Given the description of an element on the screen output the (x, y) to click on. 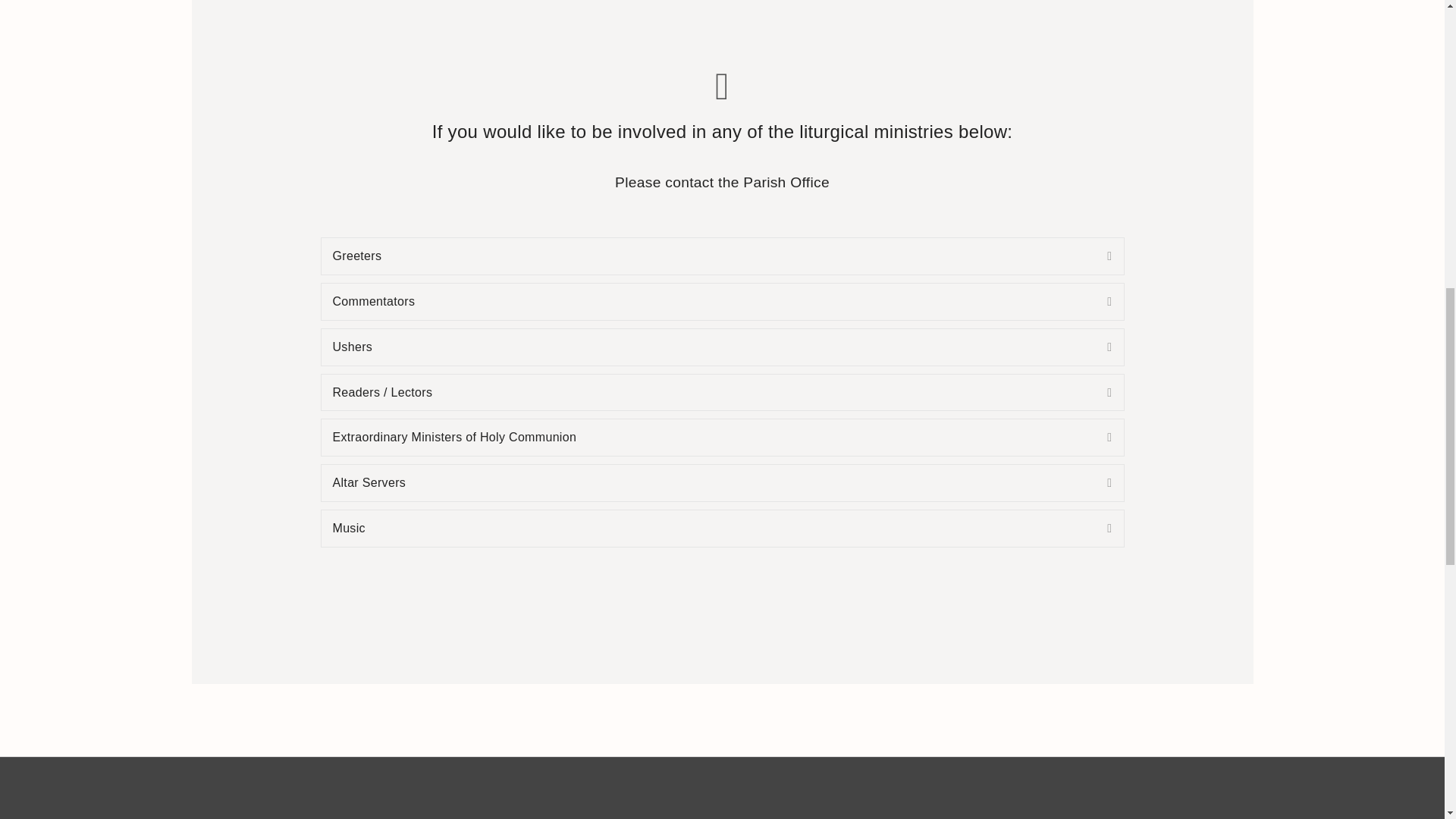
Ushers (707, 346)
Extraordinary Ministers of Holy Communion (707, 436)
Expand (1098, 301)
Commentators (707, 301)
Expand (1098, 255)
Expand (1098, 392)
Expand (1098, 346)
Greeters (707, 255)
